Given the description of an element on the screen output the (x, y) to click on. 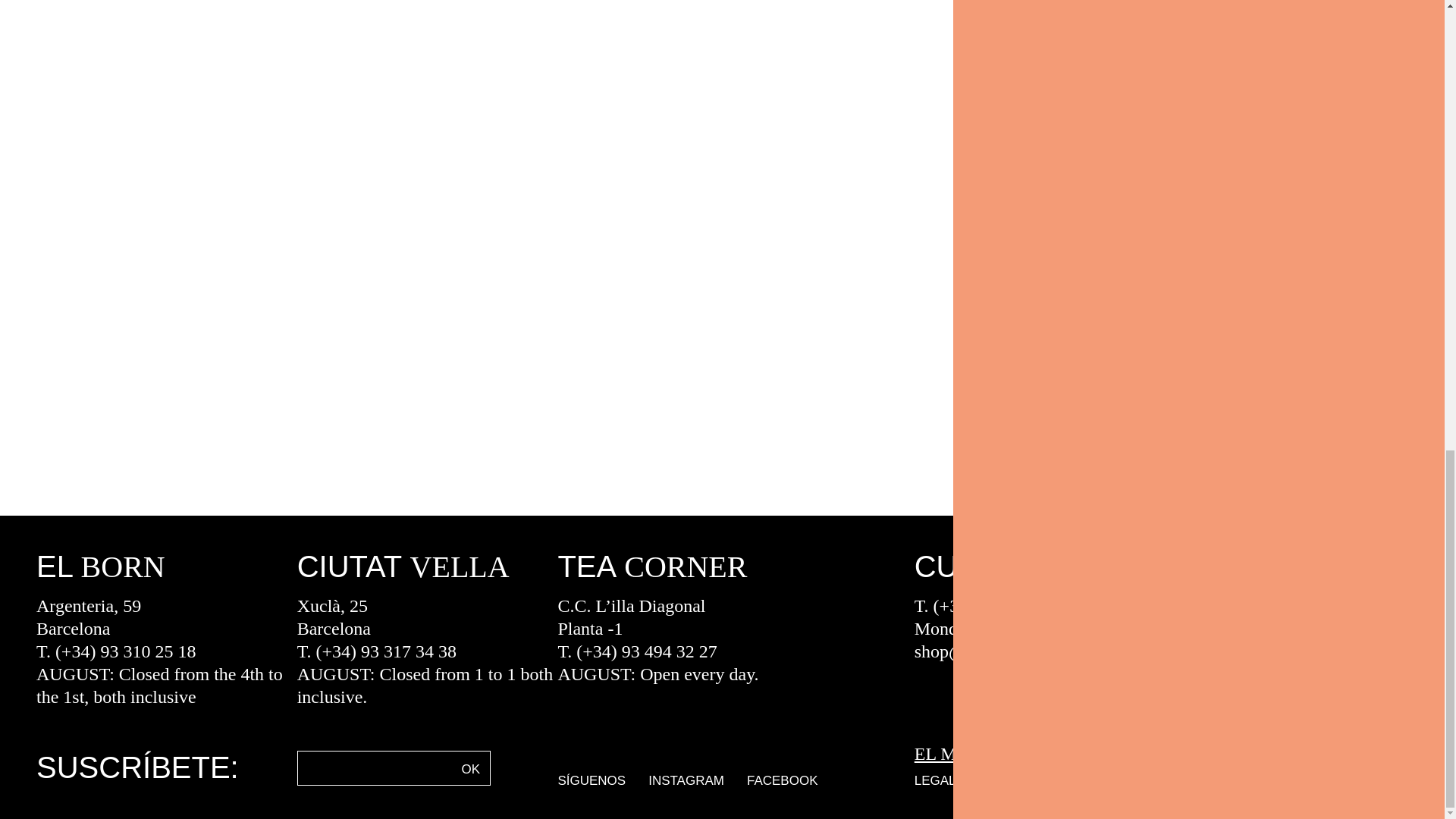
OK (470, 768)
